Given the description of an element on the screen output the (x, y) to click on. 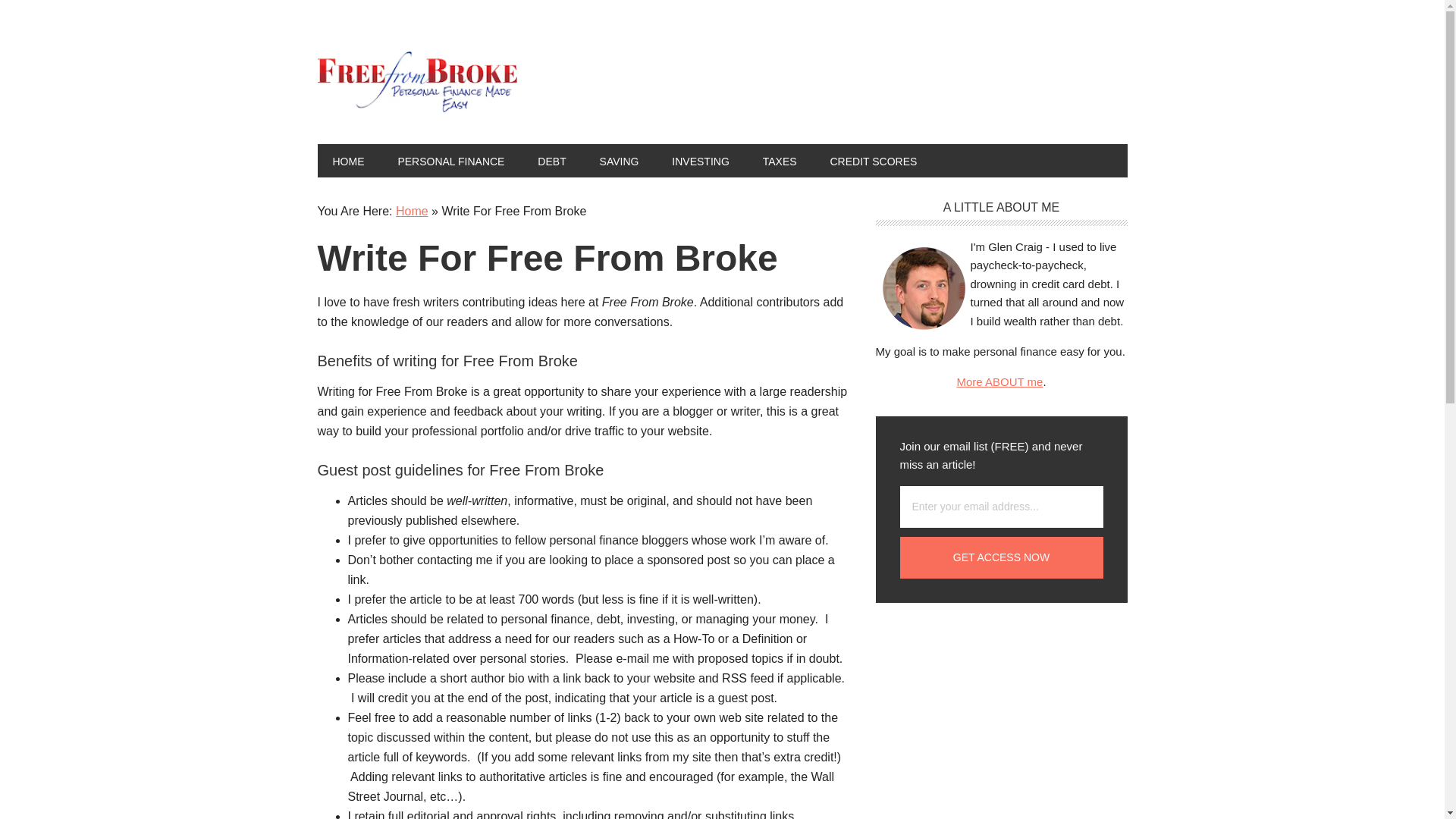
CREDIT SCORES (872, 160)
INVESTING (700, 160)
Home (412, 210)
Get Access Now (1000, 557)
FREE FROM BROKE (419, 81)
Credit Scores (872, 160)
HOME (347, 160)
PERSONAL FINANCE (450, 160)
TAXES (780, 160)
